Given the description of an element on the screen output the (x, y) to click on. 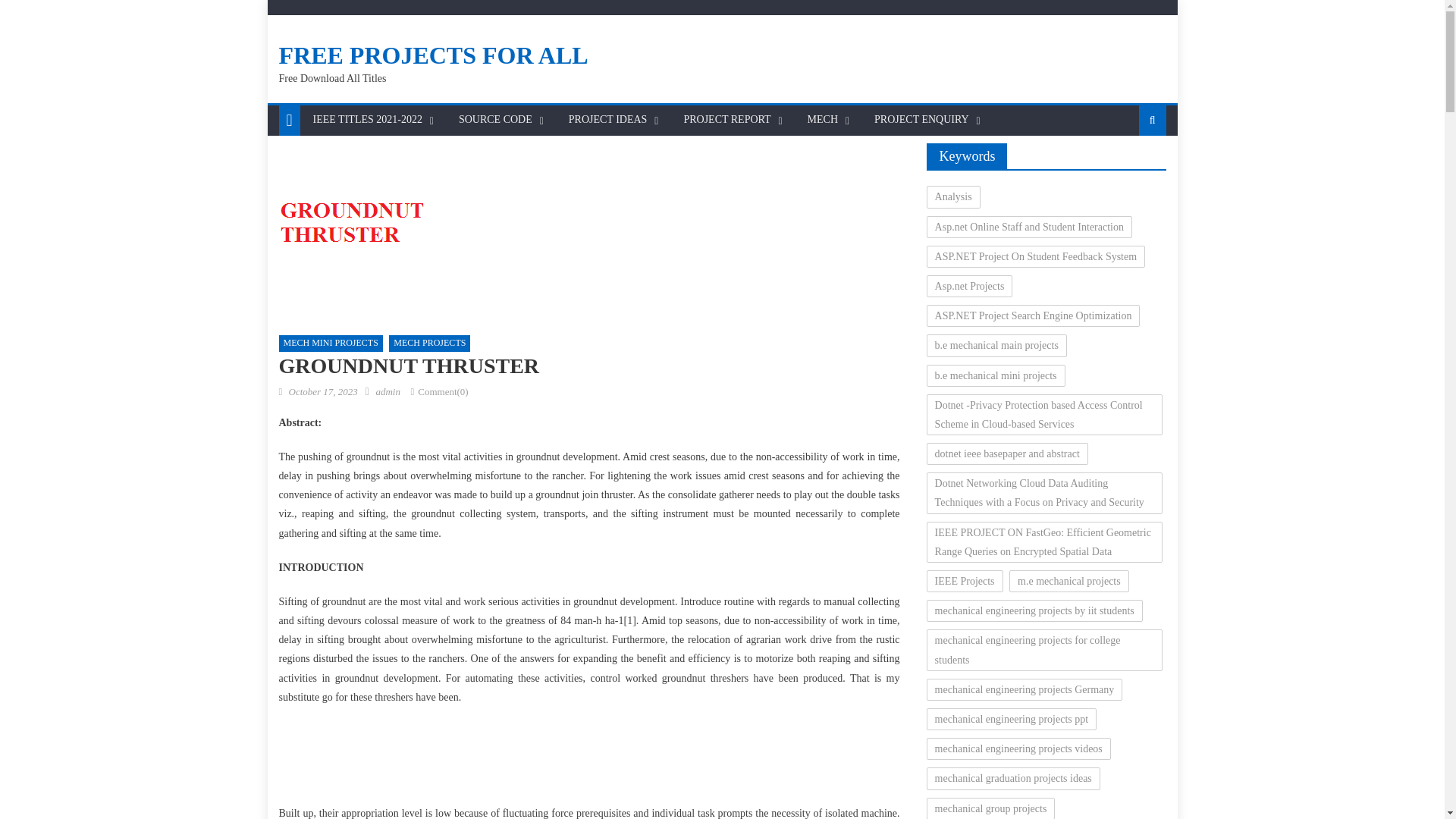
FREE PROJECTS FOR ALL (433, 54)
Advertisement (588, 759)
PROJECT REPORT (726, 119)
SOURCE CODE (494, 119)
PROJECT IDEAS (608, 119)
IEEE TITLES 2021-2022 (367, 119)
